Given the description of an element on the screen output the (x, y) to click on. 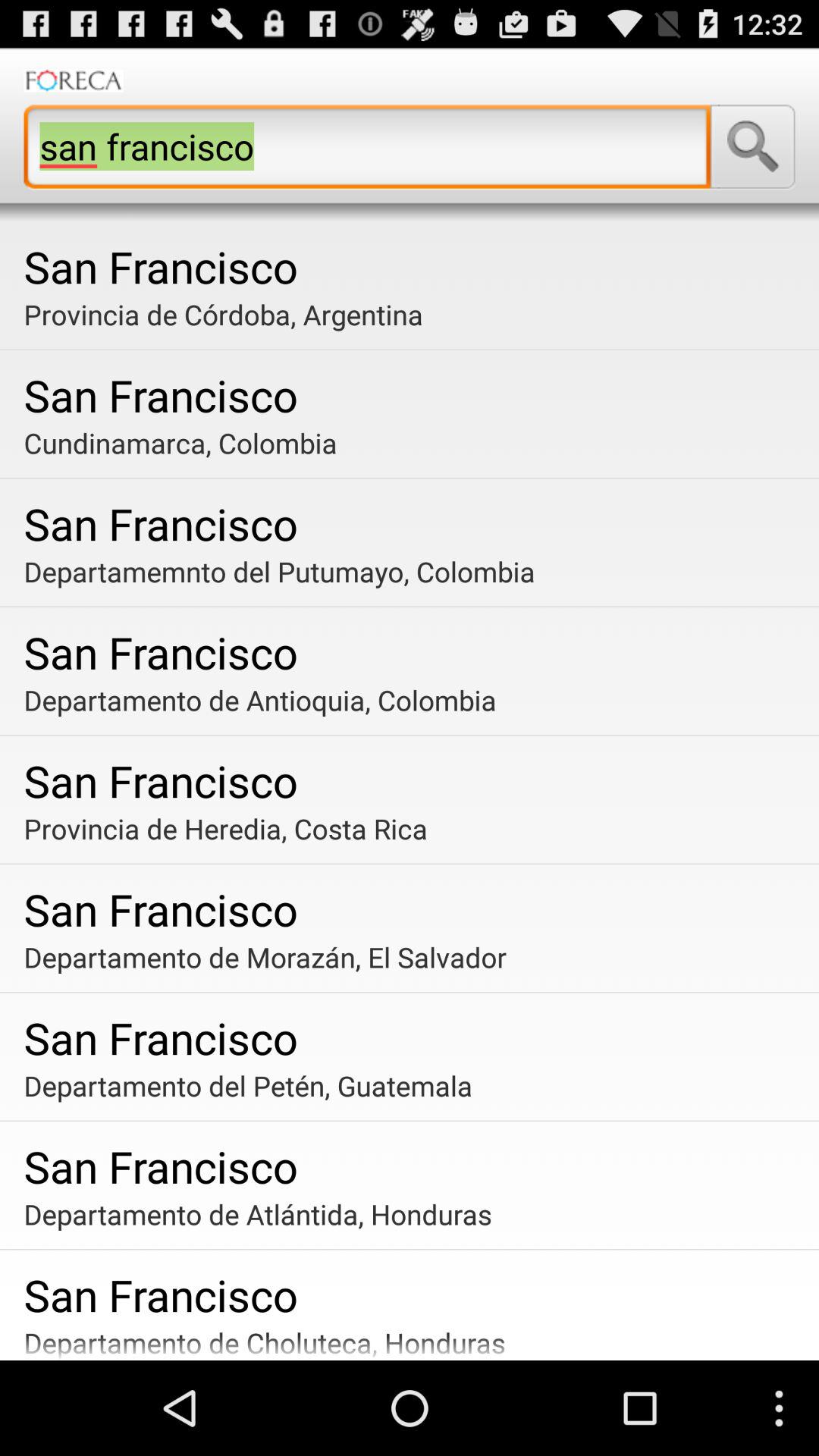
turn off app above san francisco (752, 146)
